Given the description of an element on the screen output the (x, y) to click on. 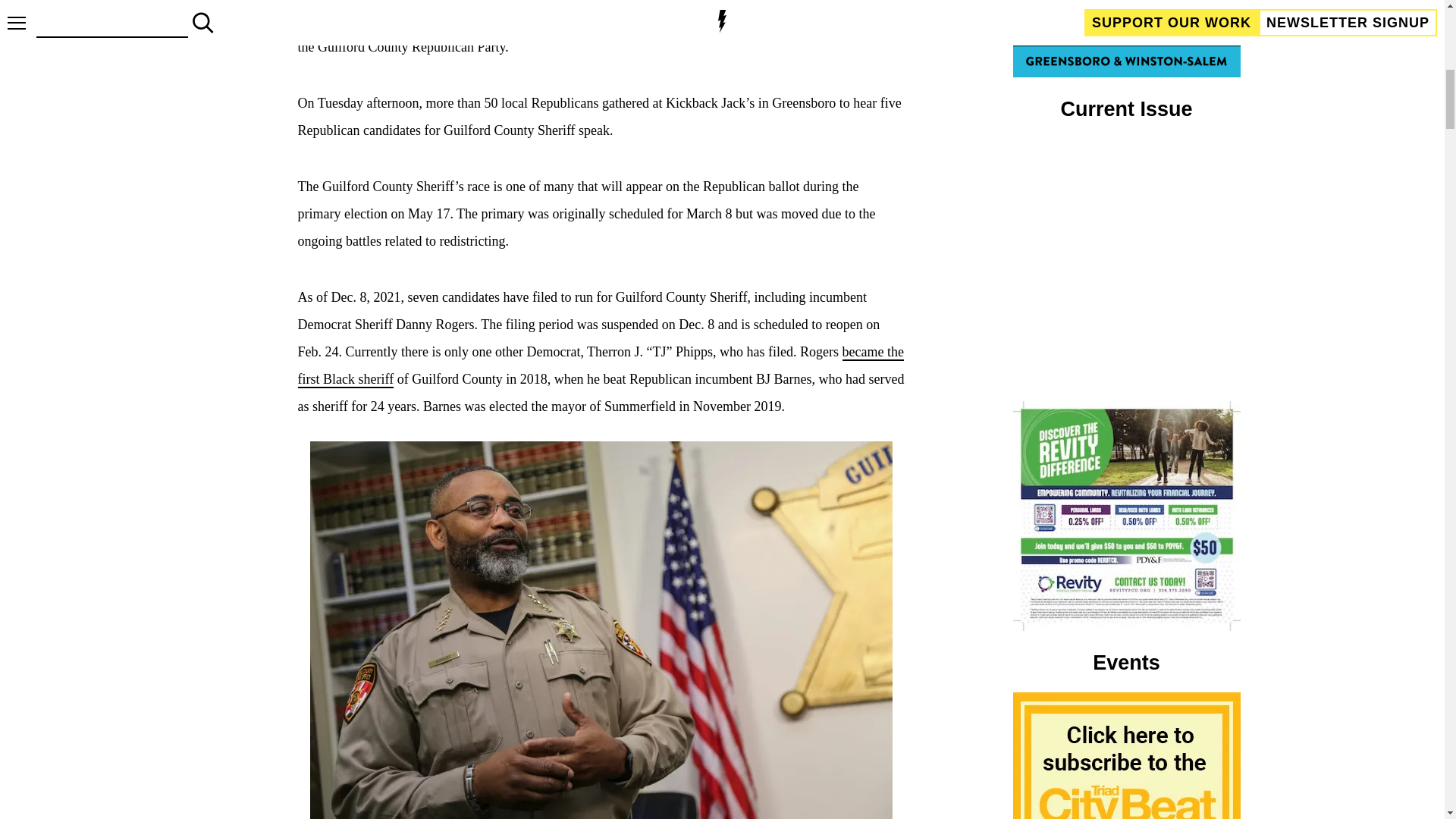
became the first Black sheriff (599, 365)
